Given the description of an element on the screen output the (x, y) to click on. 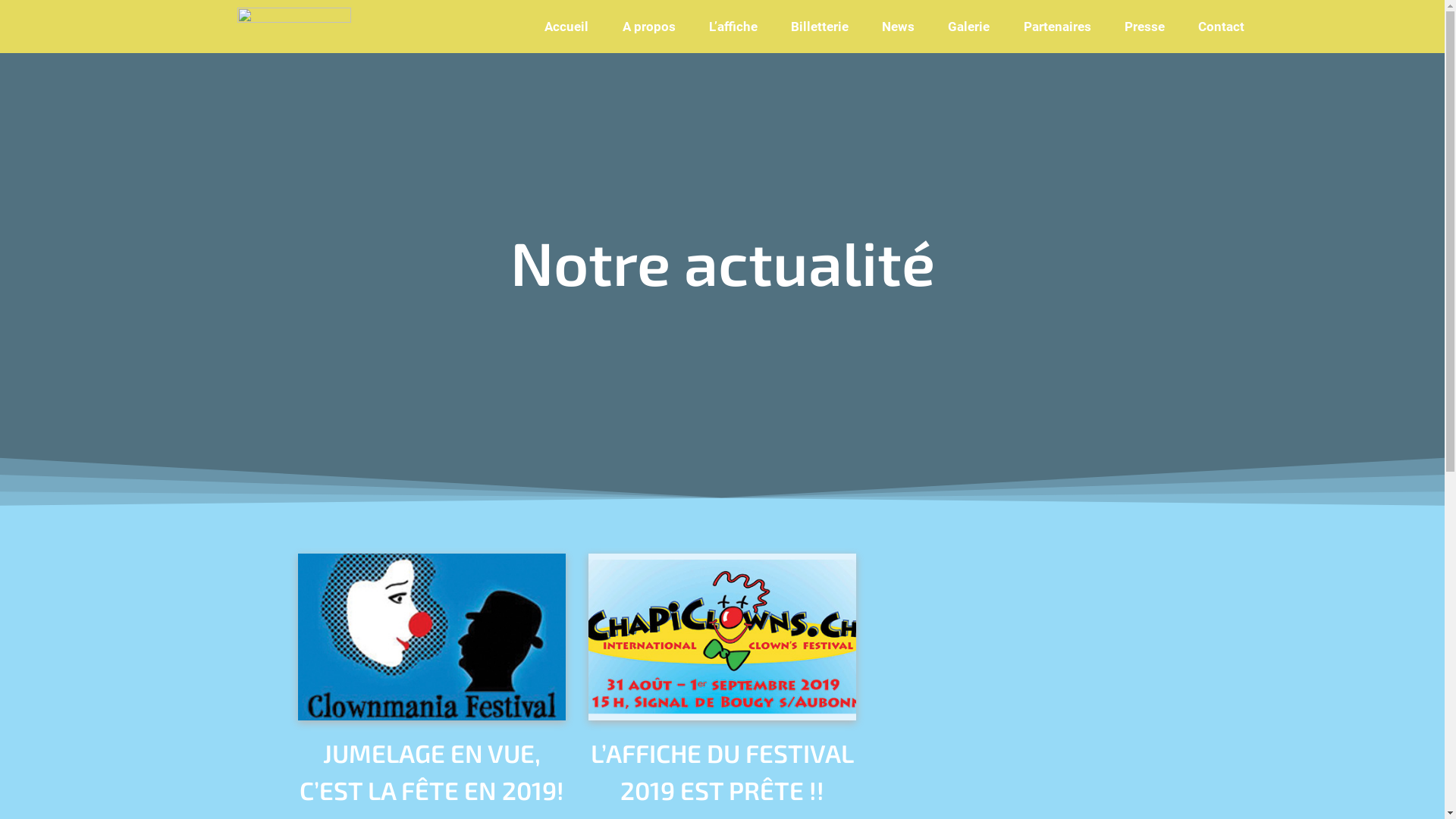
Galerie Element type: text (968, 26)
Partenaires Element type: text (1057, 26)
Accueil Element type: text (566, 26)
News Element type: text (898, 26)
A propos Element type: text (648, 26)
Contact Element type: text (1221, 26)
Presse Element type: text (1144, 26)
Billetterie Element type: text (819, 26)
